Given the description of an element on the screen output the (x, y) to click on. 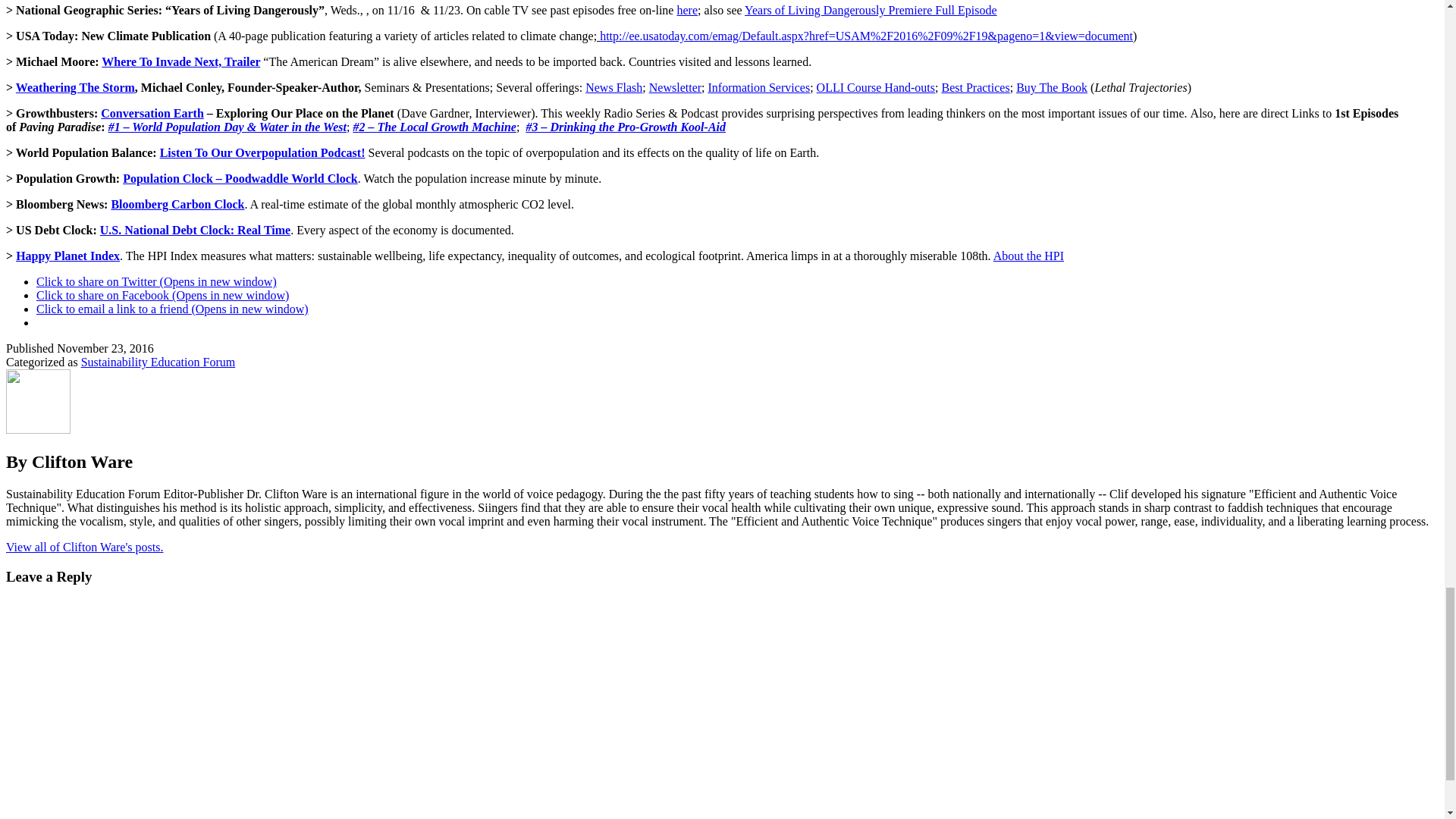
Click to share on Twitter (156, 281)
Click to email a link to a friend (172, 308)
Click to share on Facebook (162, 295)
